Given the description of an element on the screen output the (x, y) to click on. 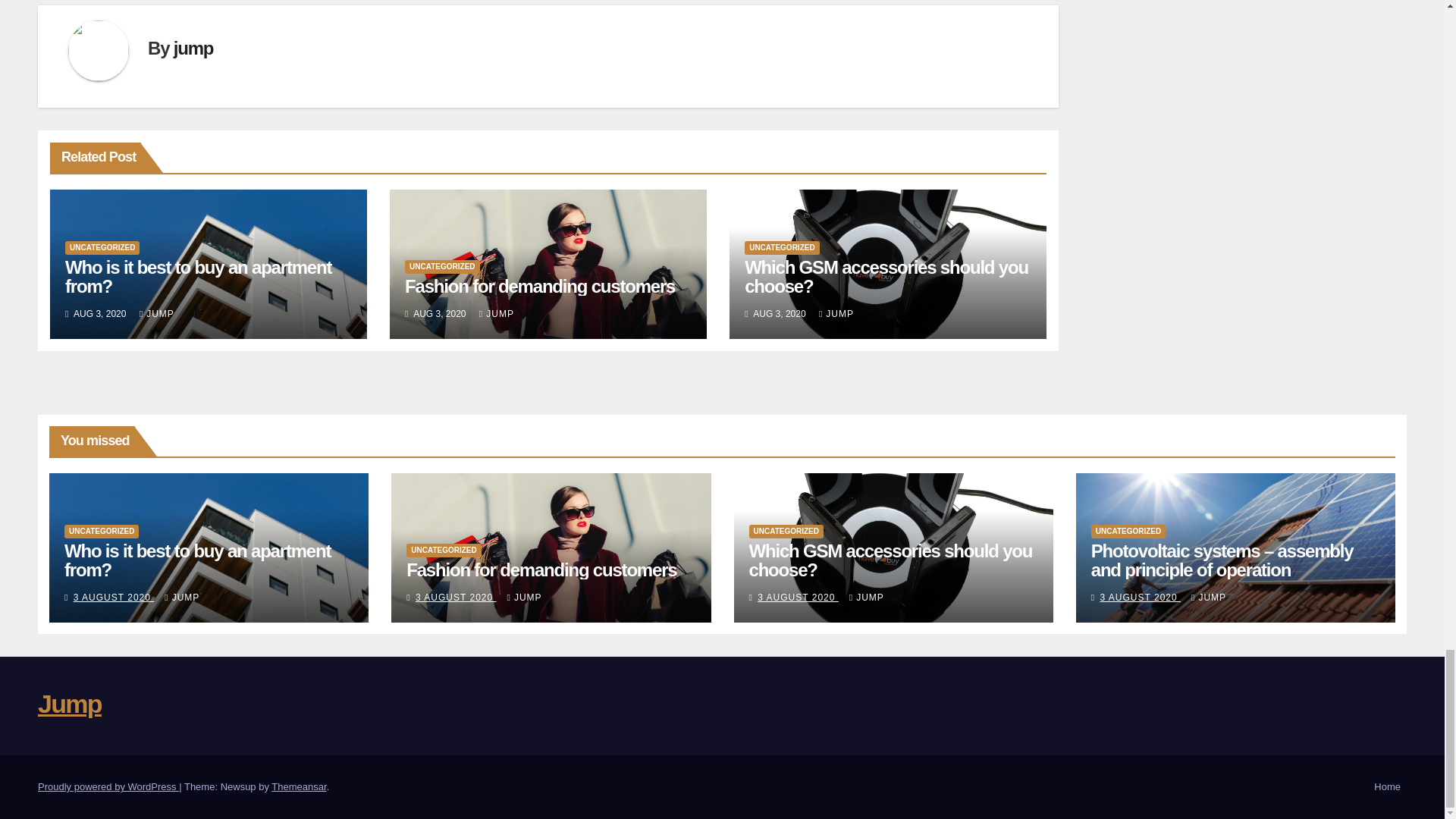
Permalink to: Who is it best to buy an apartment from? (198, 276)
Permalink to: Which GSM accessories should you choose? (890, 559)
Permalink to: Fashion for demanding customers (539, 286)
Permalink to: Fashion for demanding customers (541, 569)
Permalink to: Who is it best to buy an apartment from? (197, 559)
Permalink to: Which GSM accessories should you choose? (885, 276)
Home (1387, 786)
